Given the description of an element on the screen output the (x, y) to click on. 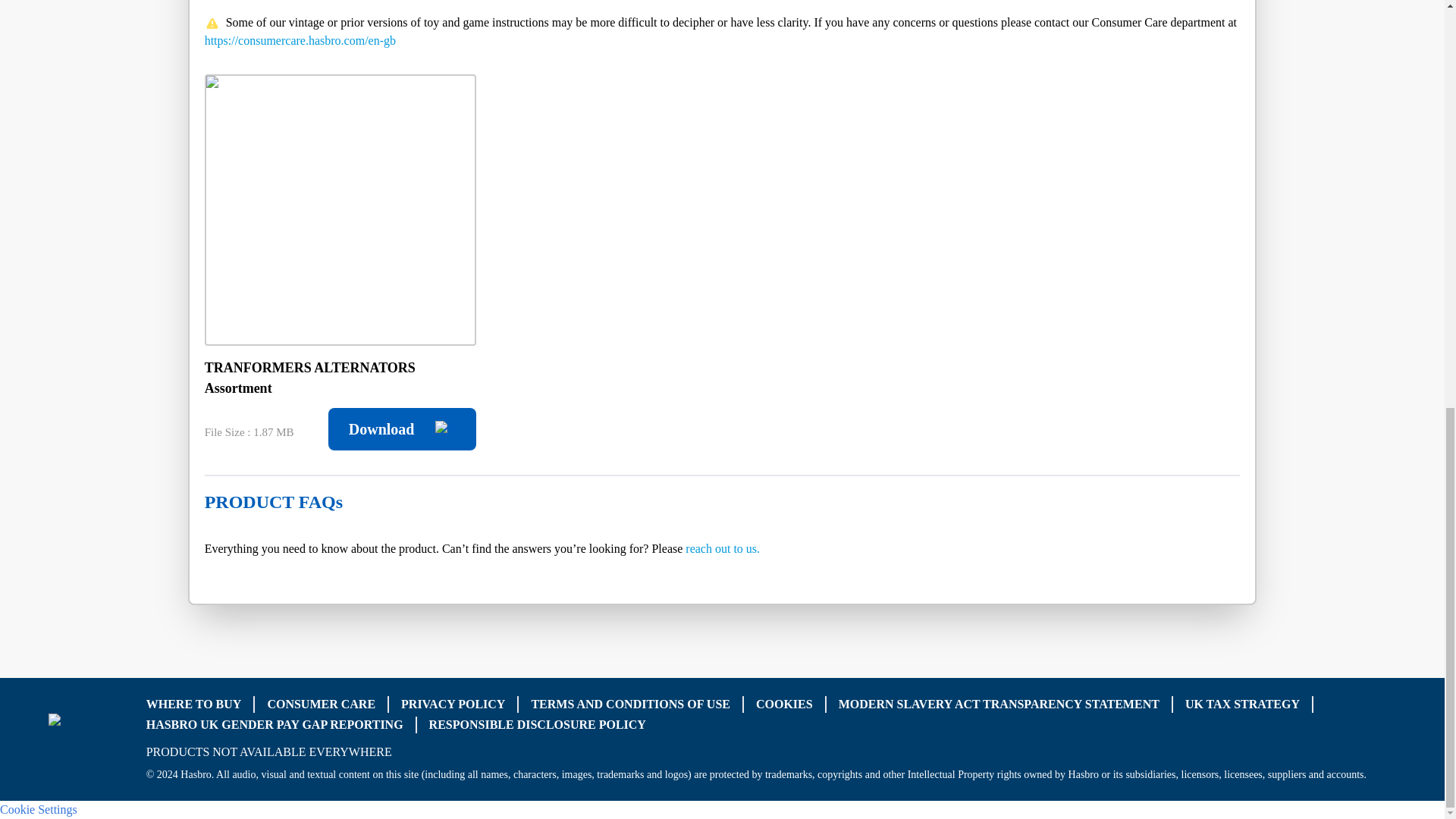
Download (402, 428)
HASBRO UK GENDER PAY GAP REPORTING (275, 723)
reach out to us. (722, 548)
UK TAX STRATEGY (1242, 703)
WHERE TO BUY (194, 703)
MODERN SLAVERY ACT TRANSPARENCY STATEMENT (998, 703)
COOKIES (783, 703)
CONSUMER CARE (320, 703)
TERMS AND CONDITIONS OF USE (630, 703)
PRIVACY POLICY (453, 703)
RESPONSIBLE DISCLOSURE POLICY (537, 723)
